Given the description of an element on the screen output the (x, y) to click on. 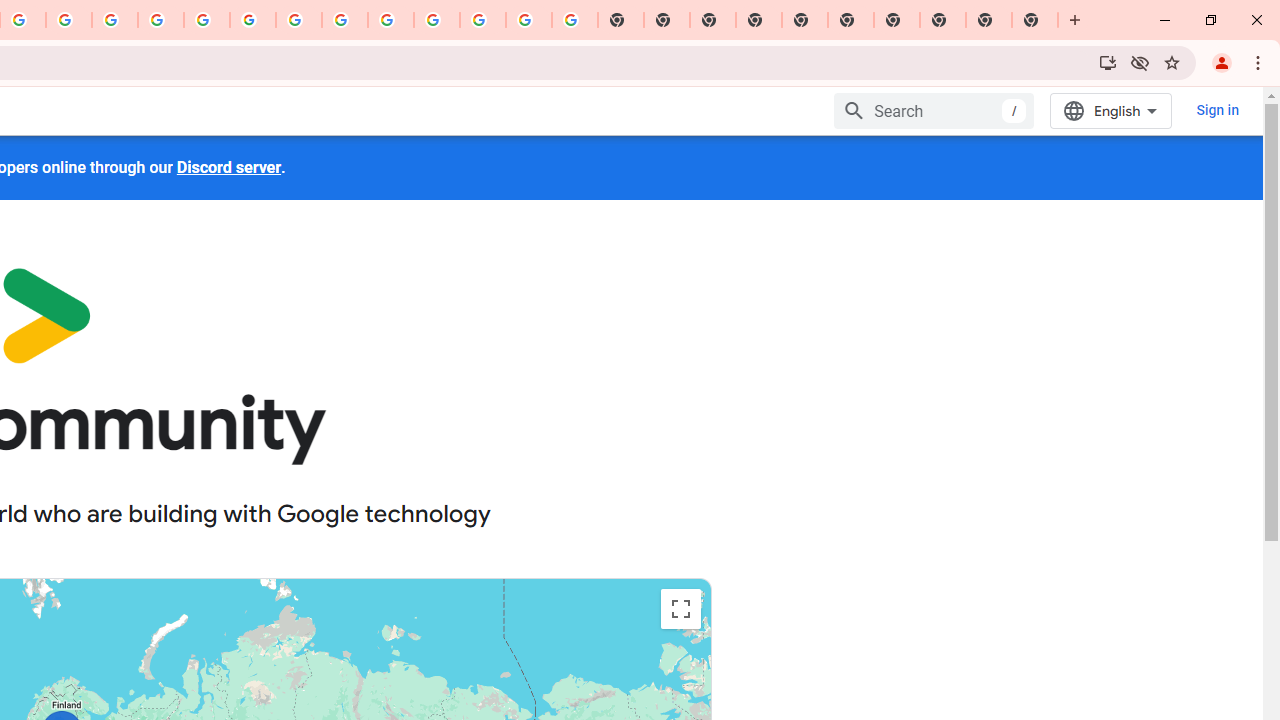
YouTube (299, 20)
New Tab (1035, 20)
Google Images (574, 20)
Discord server (228, 167)
Browse Chrome as a guest - Computer - Google Chrome Help (345, 20)
